Given the description of an element on the screen output the (x, y) to click on. 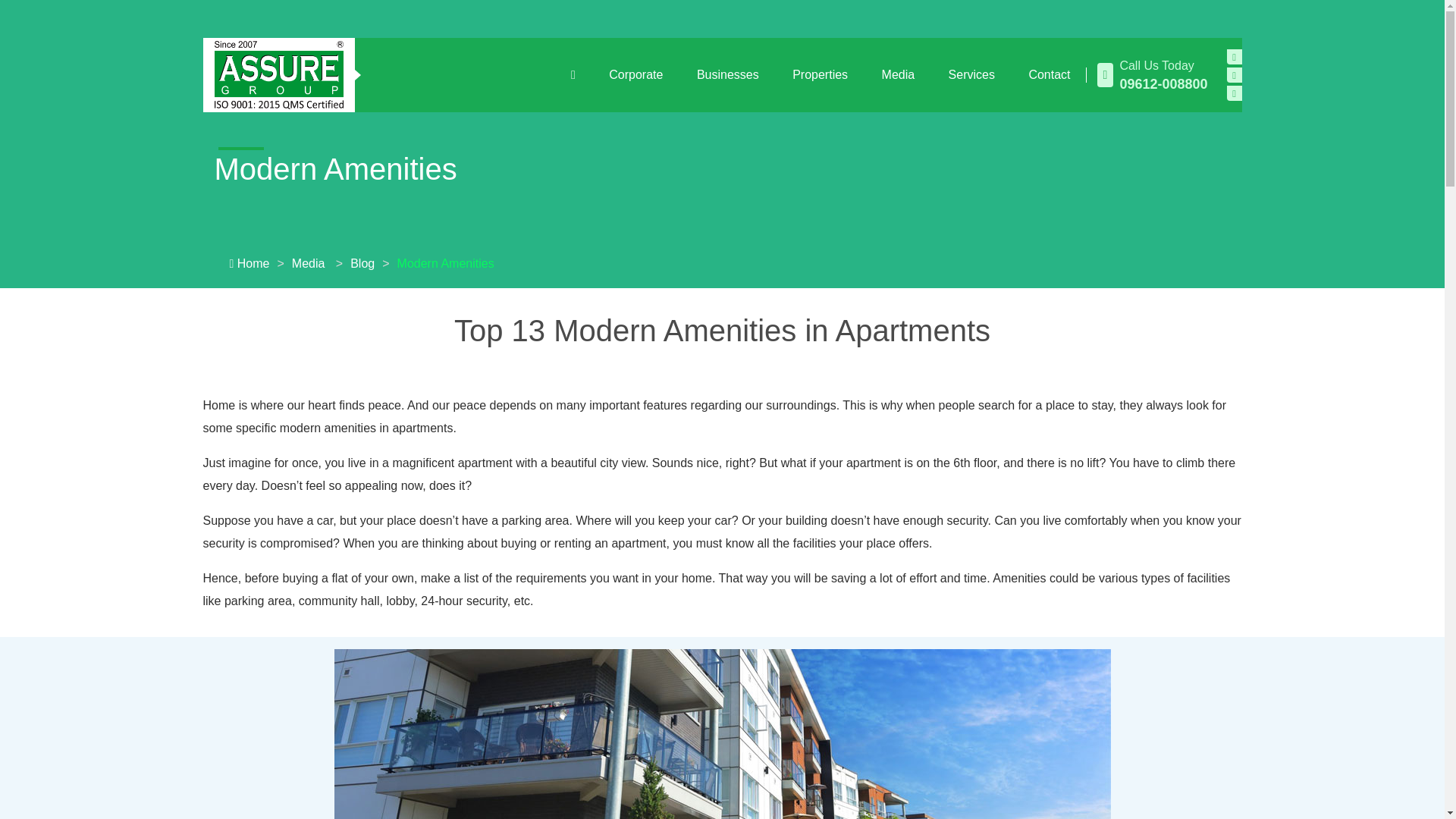
Visit our linkedin page (1234, 92)
Businesses (727, 75)
Media (898, 75)
Corporate (636, 75)
Visit our youtube page (1234, 74)
Visit our facebook page (1234, 56)
Properties (820, 75)
